Given the description of an element on the screen output the (x, y) to click on. 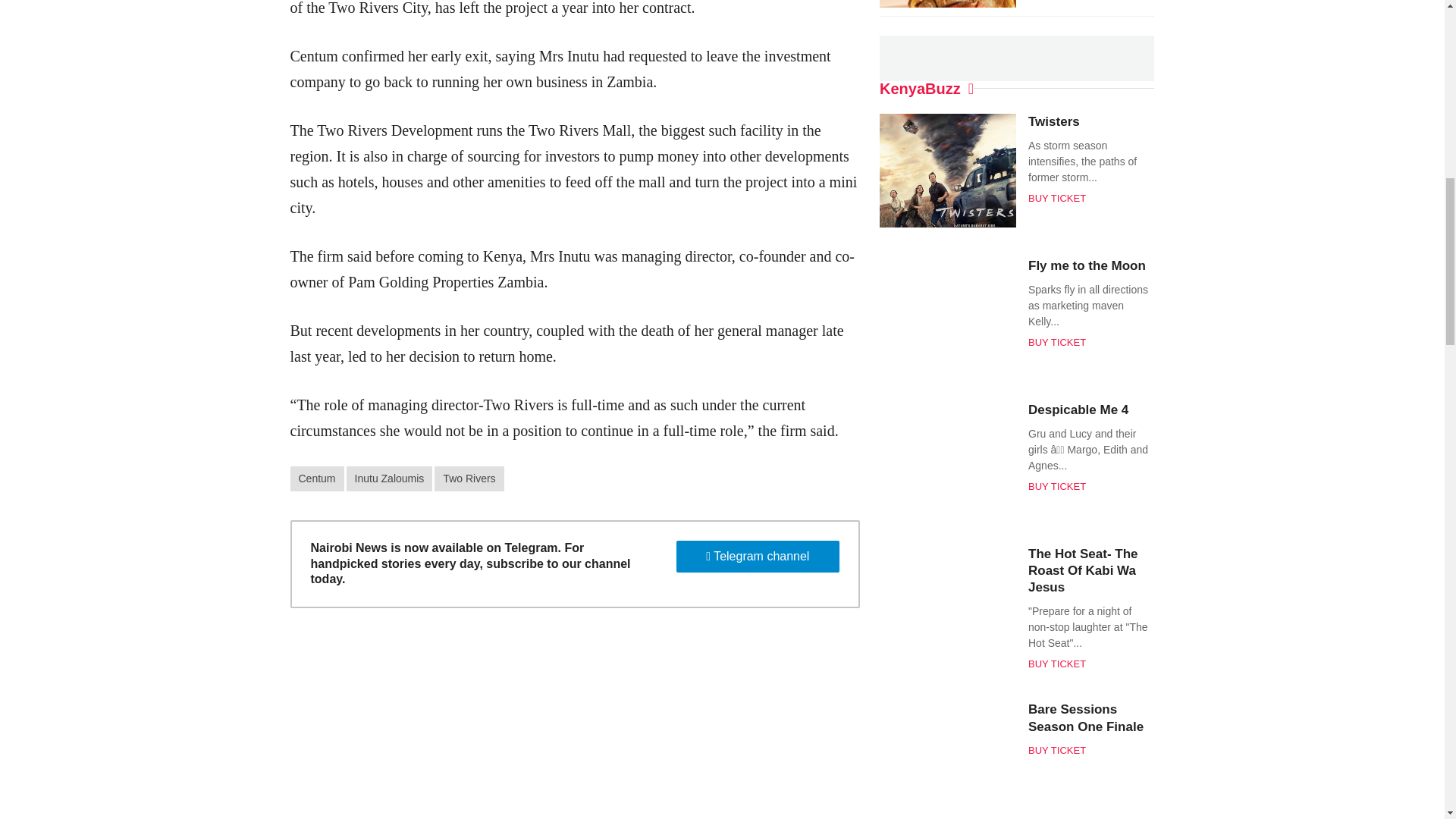
Twitter (708, 49)
Centum (316, 478)
Inutu Zaloumis (389, 478)
Facebook (681, 49)
